Given the description of an element on the screen output the (x, y) to click on. 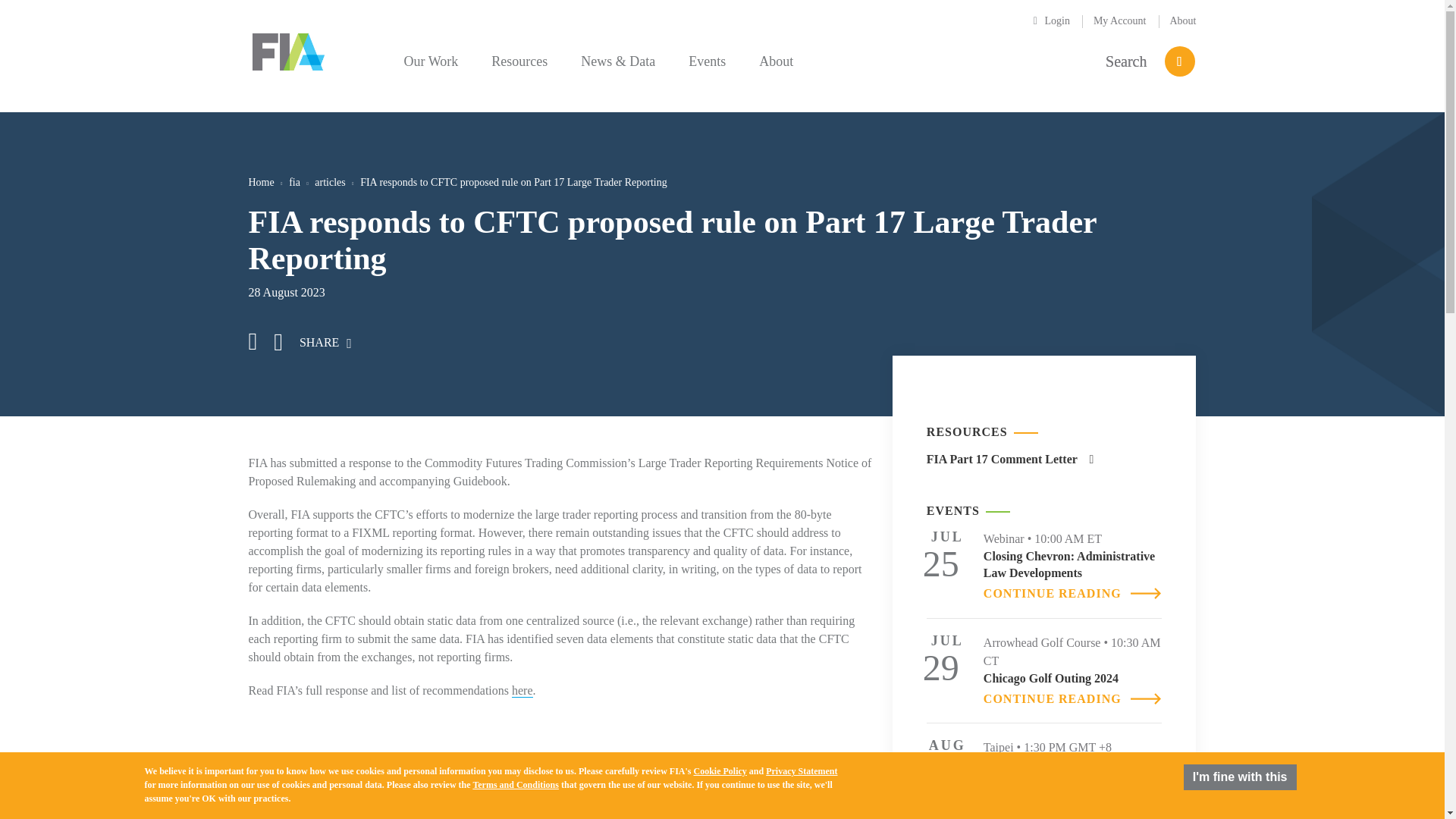
About (1182, 20)
CONTINUE READING (1064, 593)
Home (261, 182)
Home (288, 49)
here (522, 690)
CONTINUE READING (1064, 784)
CONTINUE READING (1064, 698)
Login (1055, 20)
FIA Part 17 Comment Letter (1010, 459)
My Account (1120, 20)
